Given the description of an element on the screen output the (x, y) to click on. 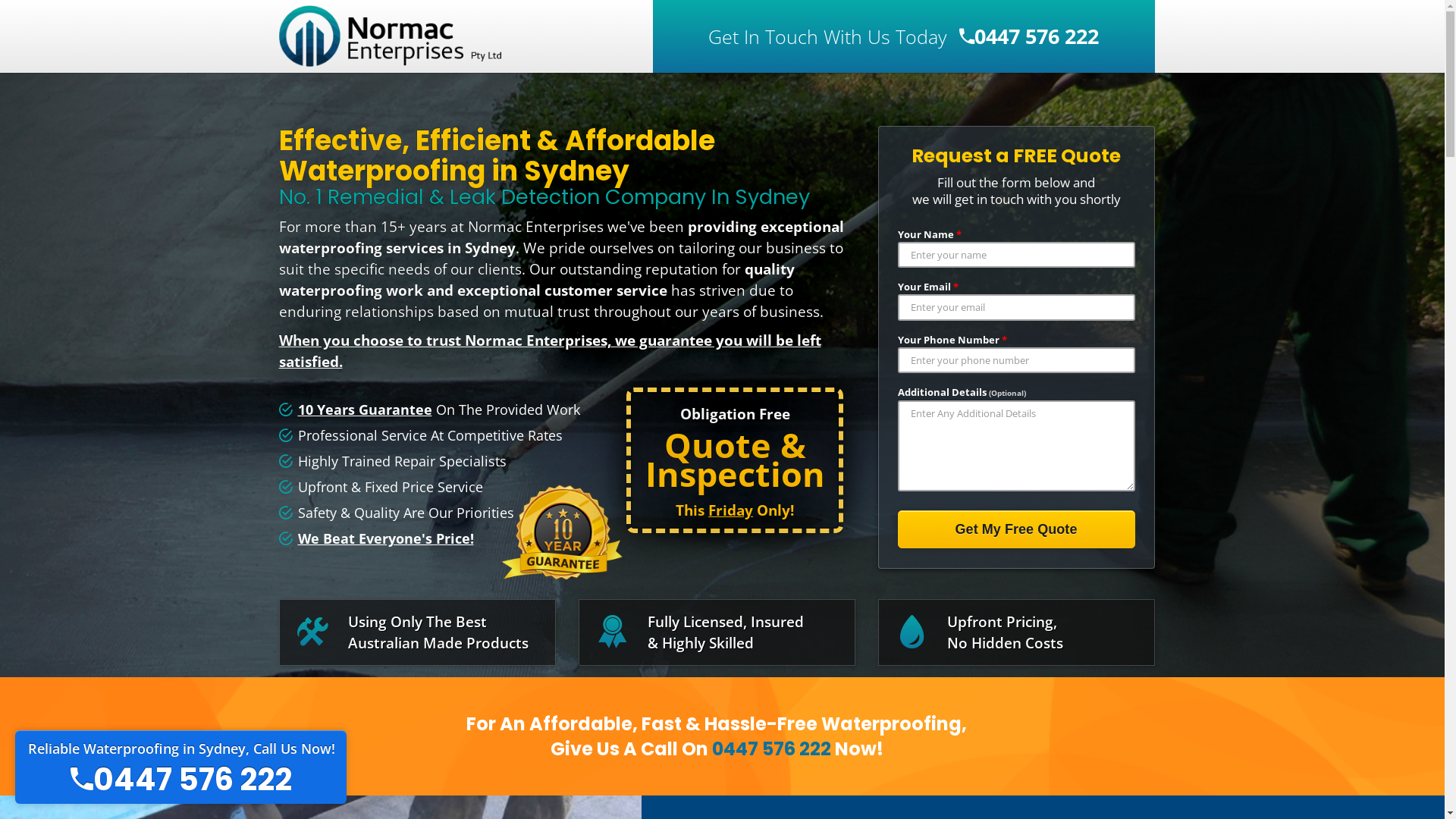
0447 576 222 Element type: text (770, 748)
Reliable Waterproofing in Sydney, Call Us Now!
0447 576 222 Element type: text (180, 766)
Get My Free Quote Element type: text (1016, 529)
Get In Touch With Us Today 0447 576 222 Element type: text (903, 36)
